Given the description of an element on the screen output the (x, y) to click on. 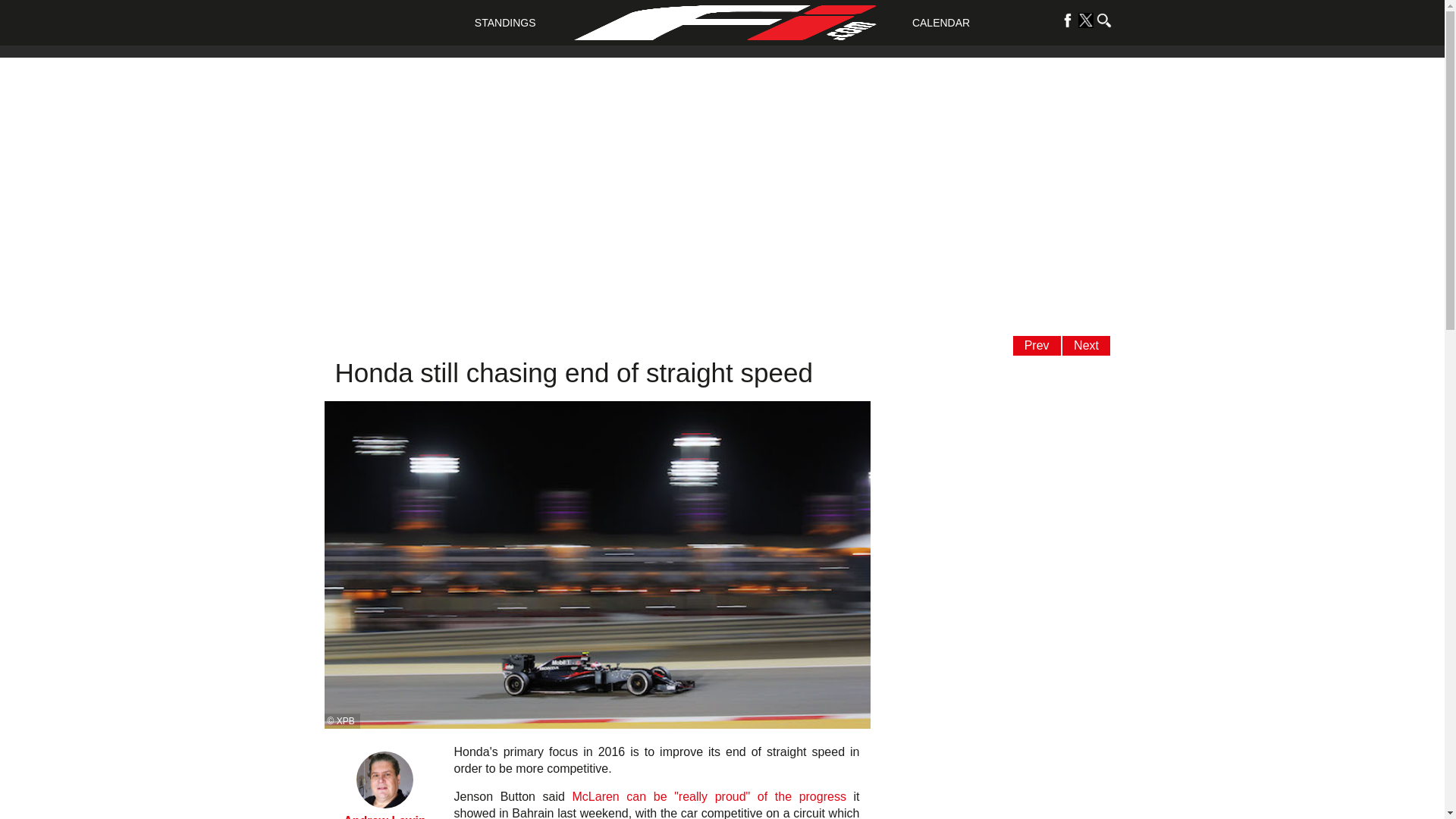
STANDINGS (504, 22)
CALENDAR (940, 22)
